Given the description of an element on the screen output the (x, y) to click on. 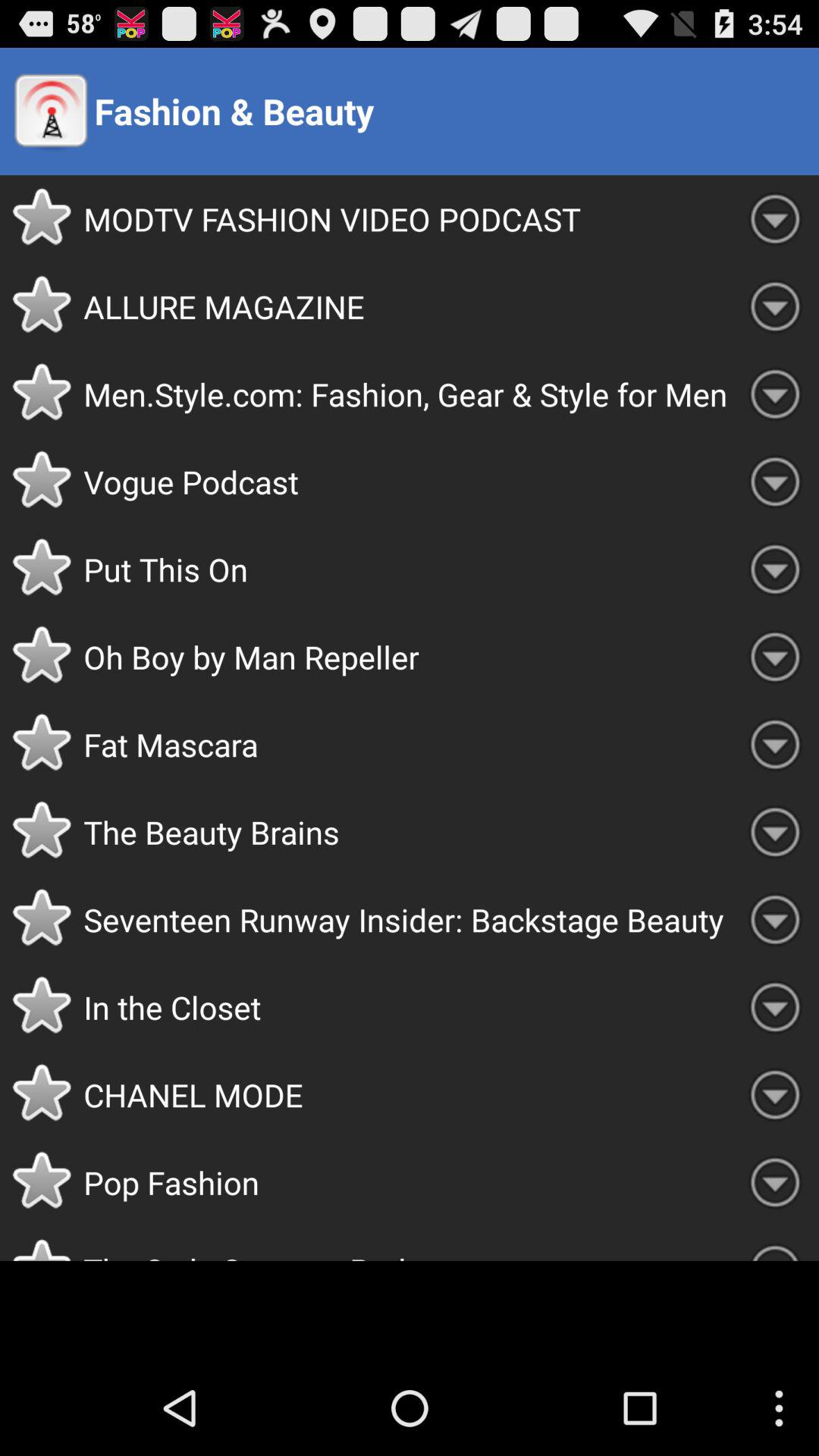
open the fat mascara app (407, 744)
